Given the description of an element on the screen output the (x, y) to click on. 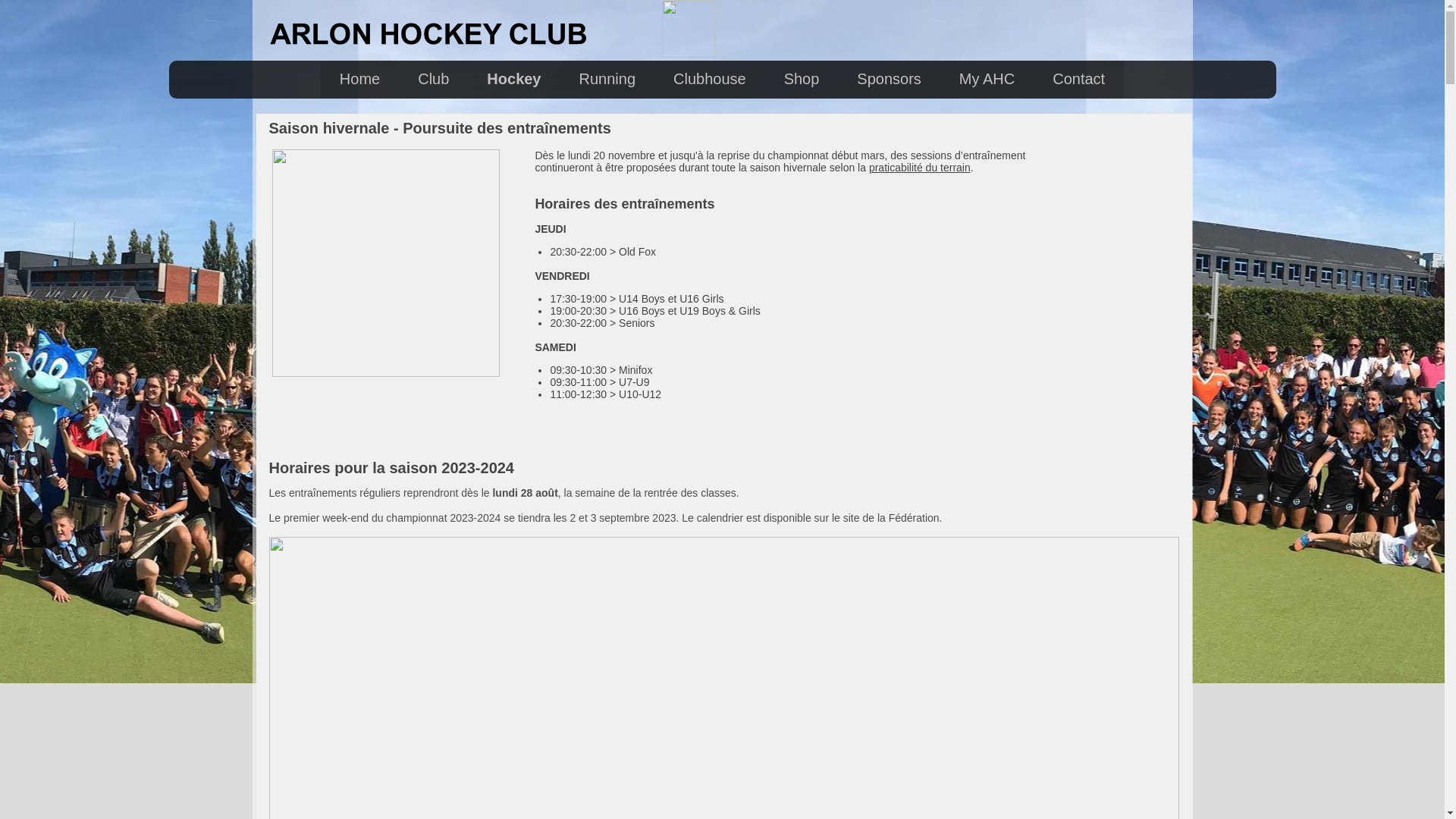
Running Element type: text (607, 79)
Horaires pour la saison 2023-2024 Element type: text (391, 467)
Shop Element type: text (801, 79)
My AHC Element type: text (986, 79)
Clubhouse Element type: text (709, 79)
Home Element type: text (359, 79)
Contact Element type: text (1078, 79)
